Given the description of an element on the screen output the (x, y) to click on. 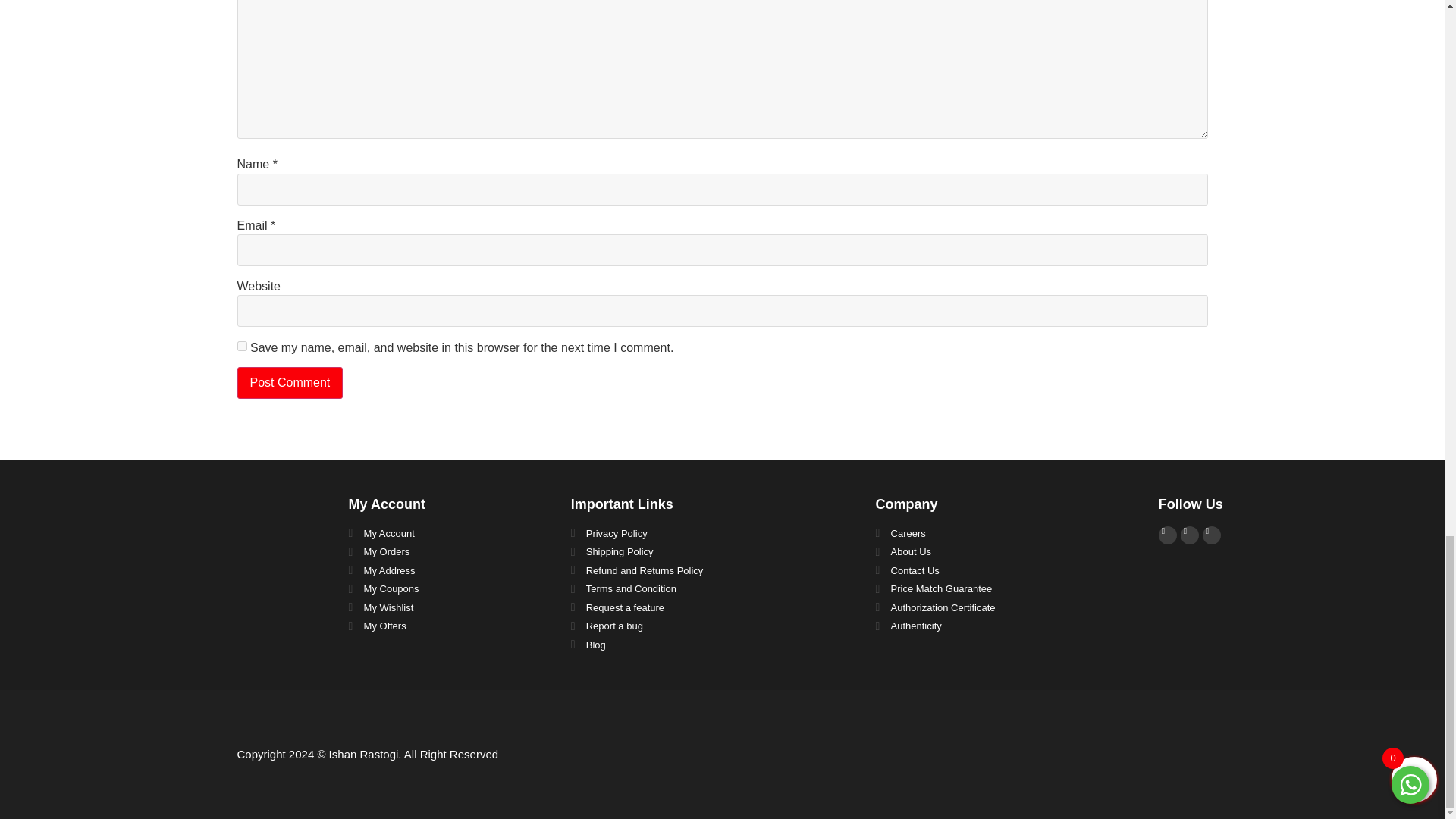
payment-gateway1.webp (1136, 754)
Post Comment (288, 382)
yes (240, 346)
